Given the description of an element on the screen output the (x, y) to click on. 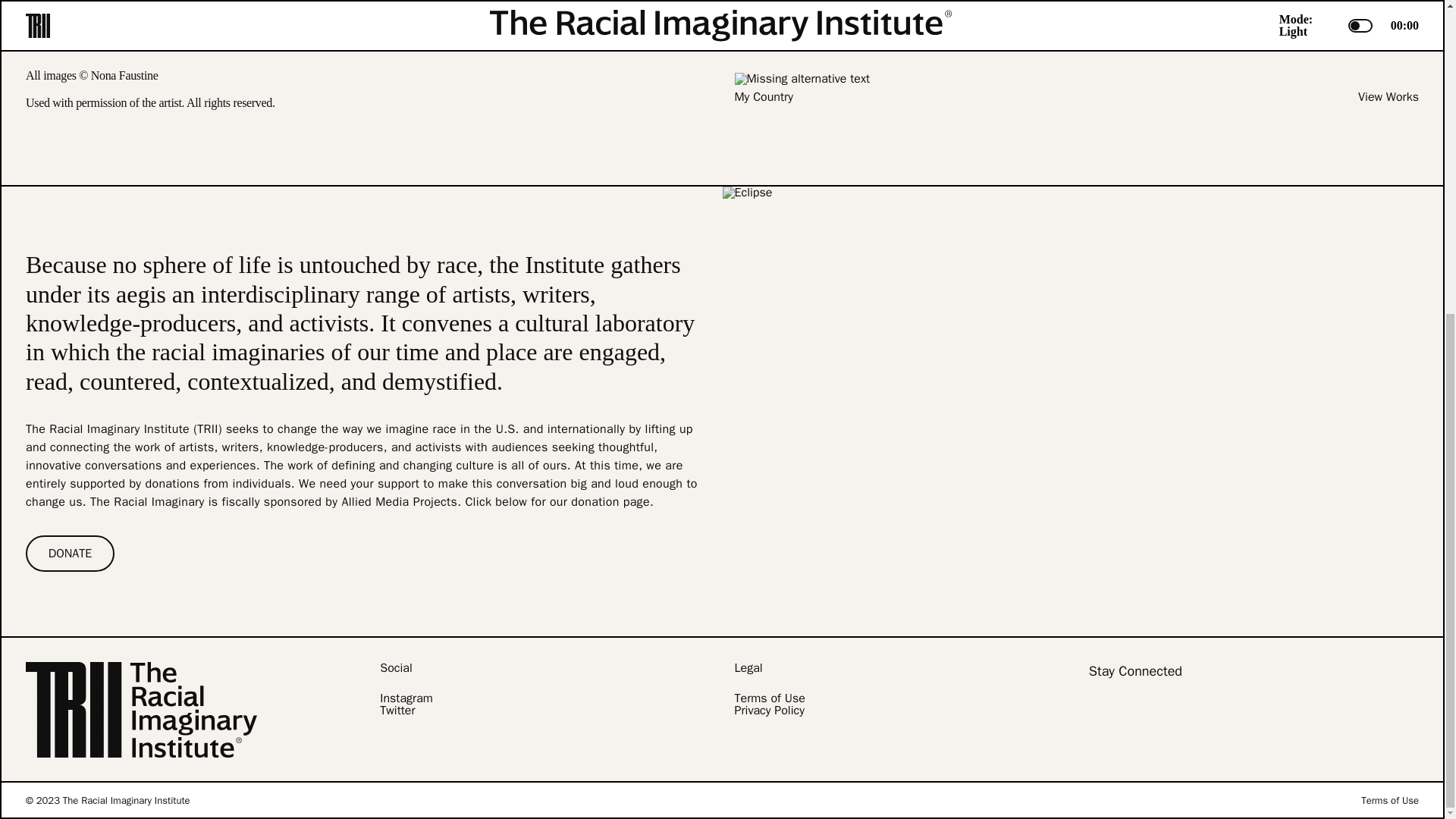
Terms of Use (1389, 799)
Terms of Use (769, 698)
Instagram (406, 698)
Privacy Policy (768, 710)
Twitter (397, 710)
DONATE (70, 553)
